Given the description of an element on the screen output the (x, y) to click on. 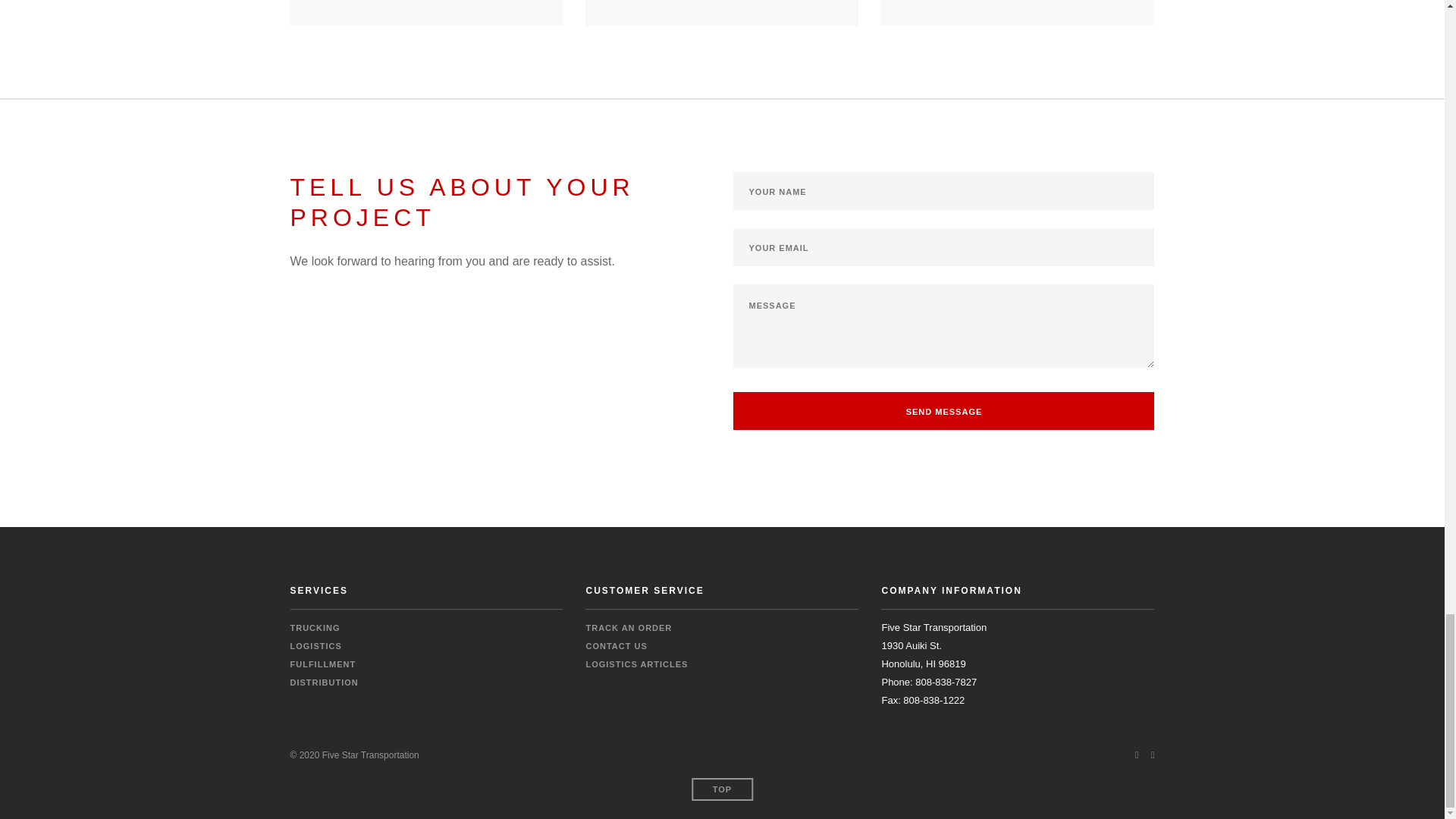
LOGISTICS ARTICLES (636, 664)
DISTRIBUTION (323, 682)
Send Message (943, 410)
TRACK AN ORDER (628, 627)
Send Message (943, 410)
TOP (721, 789)
LOGISTICS (314, 645)
FULFILLMENT (322, 664)
TRUCKING (314, 627)
CONTACT US (615, 645)
